Given the description of an element on the screen output the (x, y) to click on. 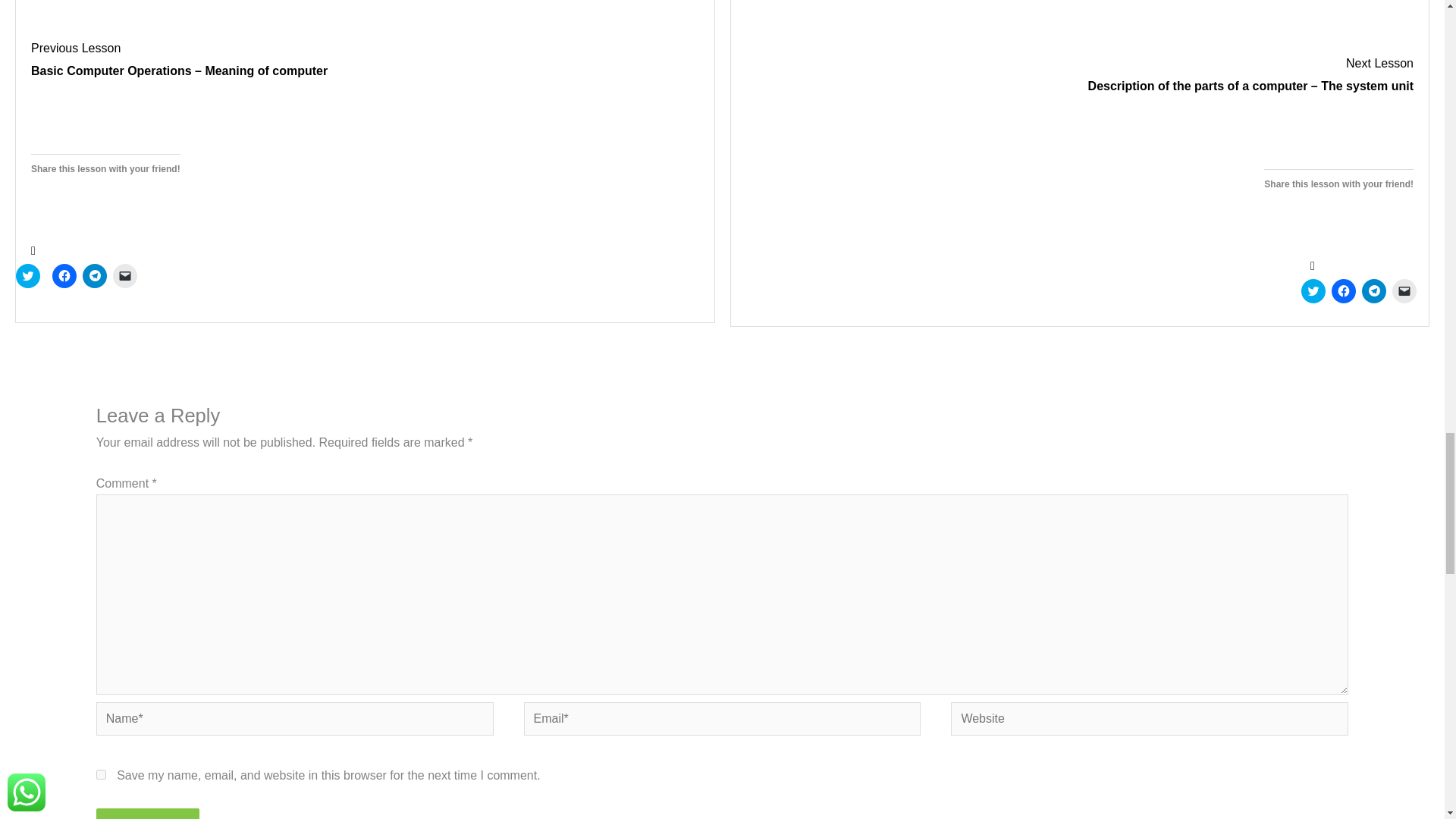
Post Comment (147, 813)
Click to share on Telegram (94, 275)
Click to email a link to a friend (124, 275)
yes (101, 774)
Click to share on Twitter (1312, 291)
Click to share on Facebook (64, 275)
Click to share on Twitter (28, 275)
